Given the description of an element on the screen output the (x, y) to click on. 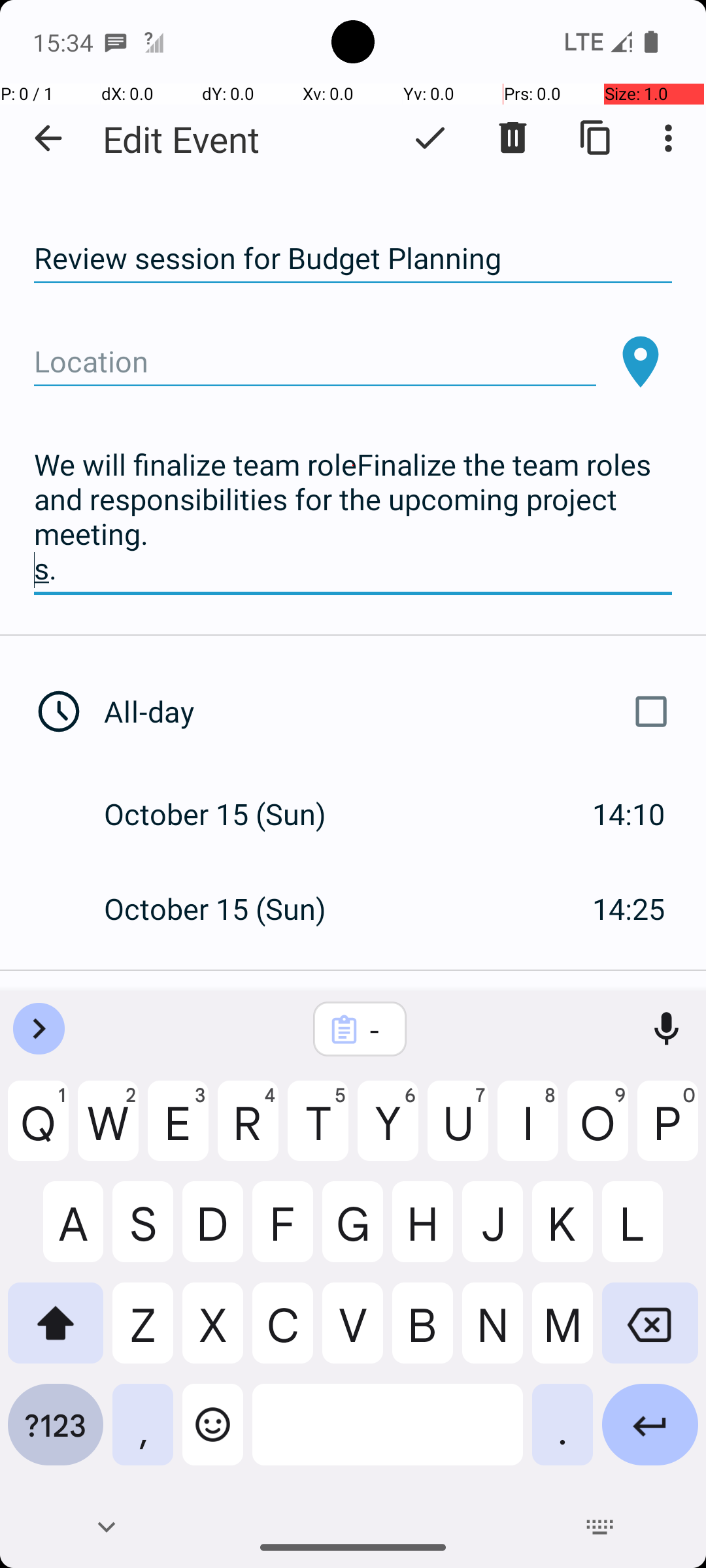
We will finalize team roleFinalize the team roles and responsibilities for the upcoming project meeting.
s. Element type: android.widget.EditText (352, 516)
14:10 Element type: android.widget.TextView (628, 813)
14:25 Element type: android.widget.TextView (628, 908)
